Given the description of an element on the screen output the (x, y) to click on. 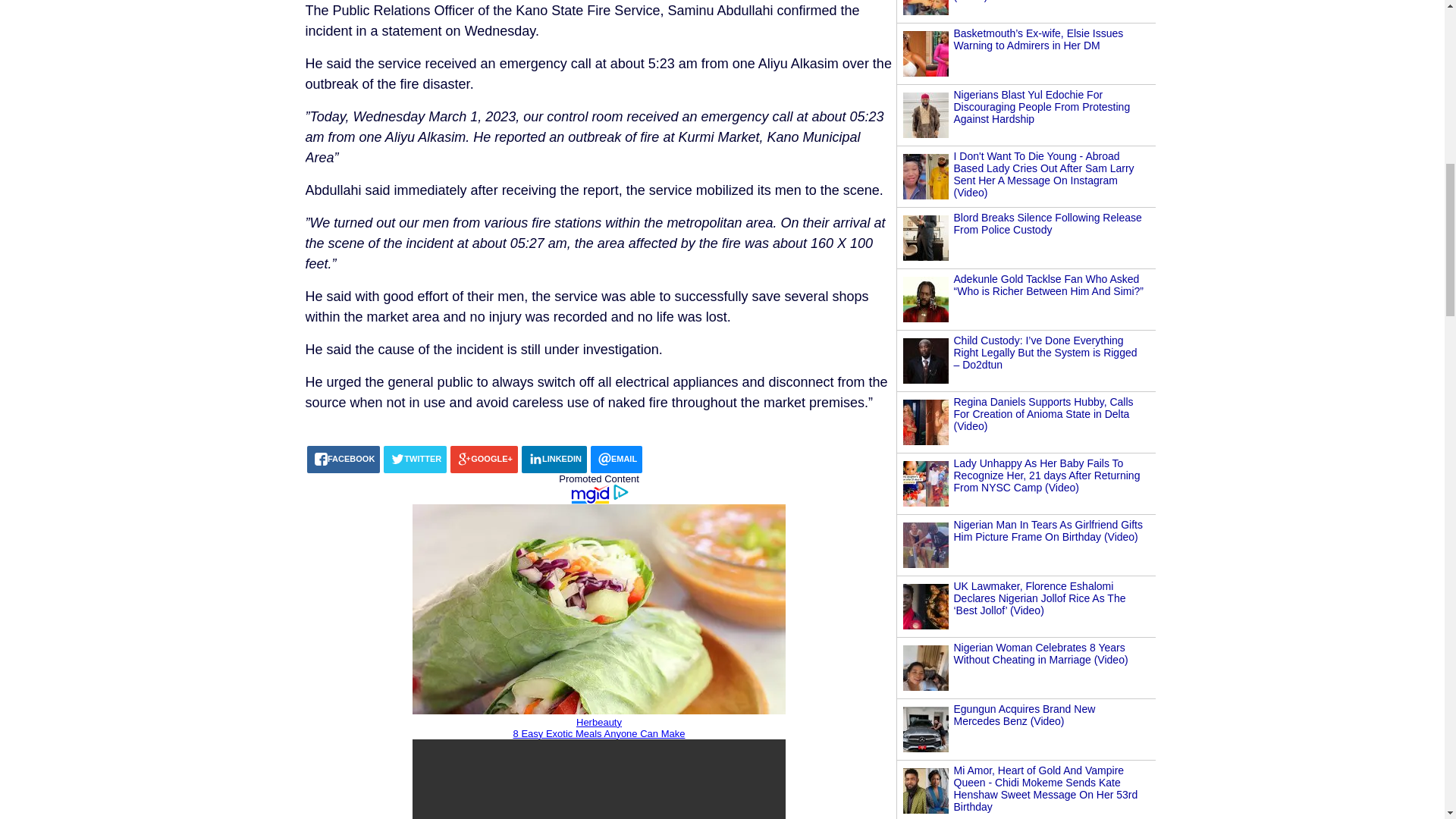
Blord Breaks Silence Following Release From Police Custody (1047, 223)
